Given the description of an element on the screen output the (x, y) to click on. 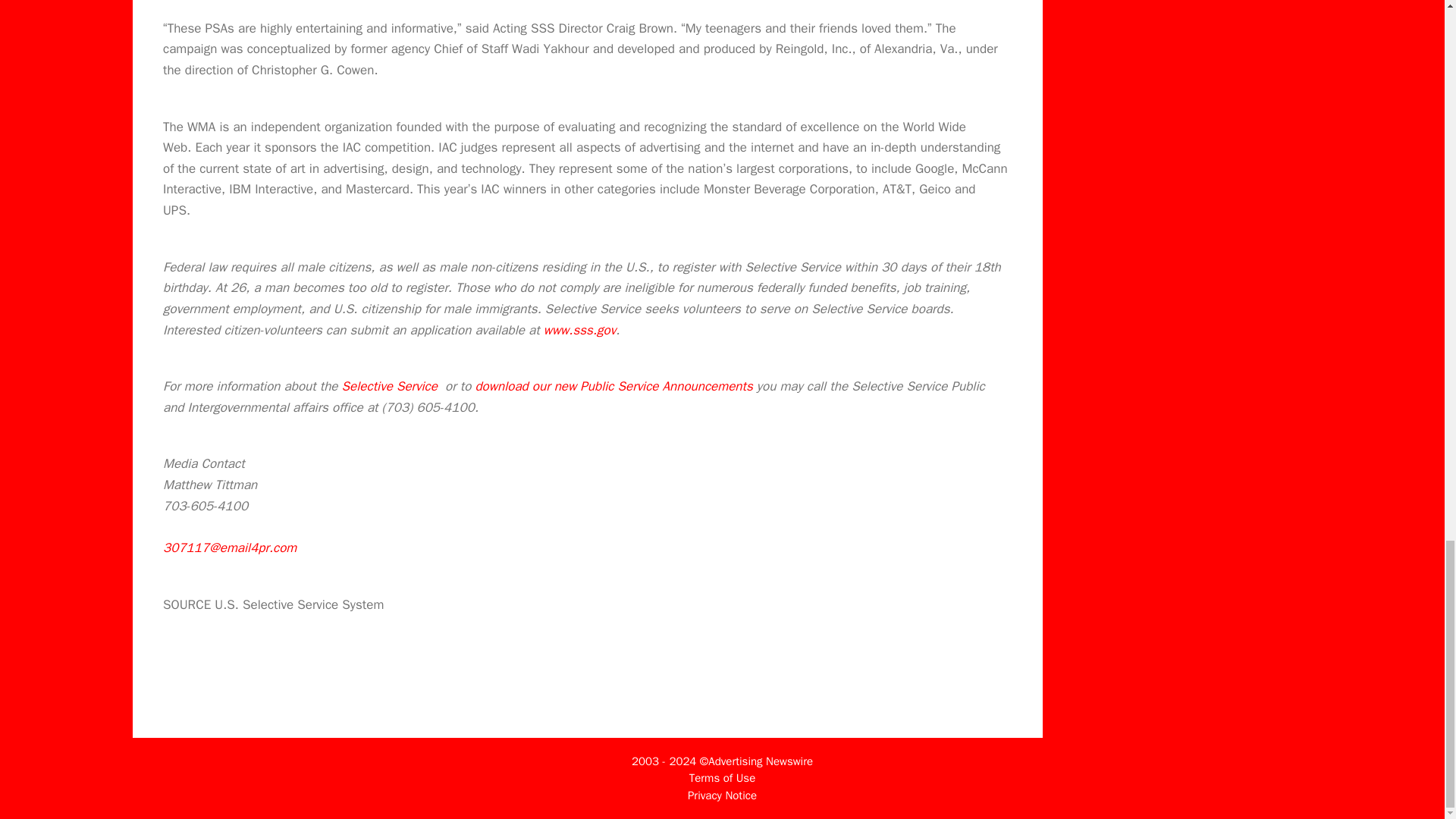
download our new Public Service Announcements (613, 385)
Selective Service (391, 385)
www.sss.gov (579, 330)
Terms of Use (721, 777)
Privacy Notice (722, 795)
